Given the description of an element on the screen output the (x, y) to click on. 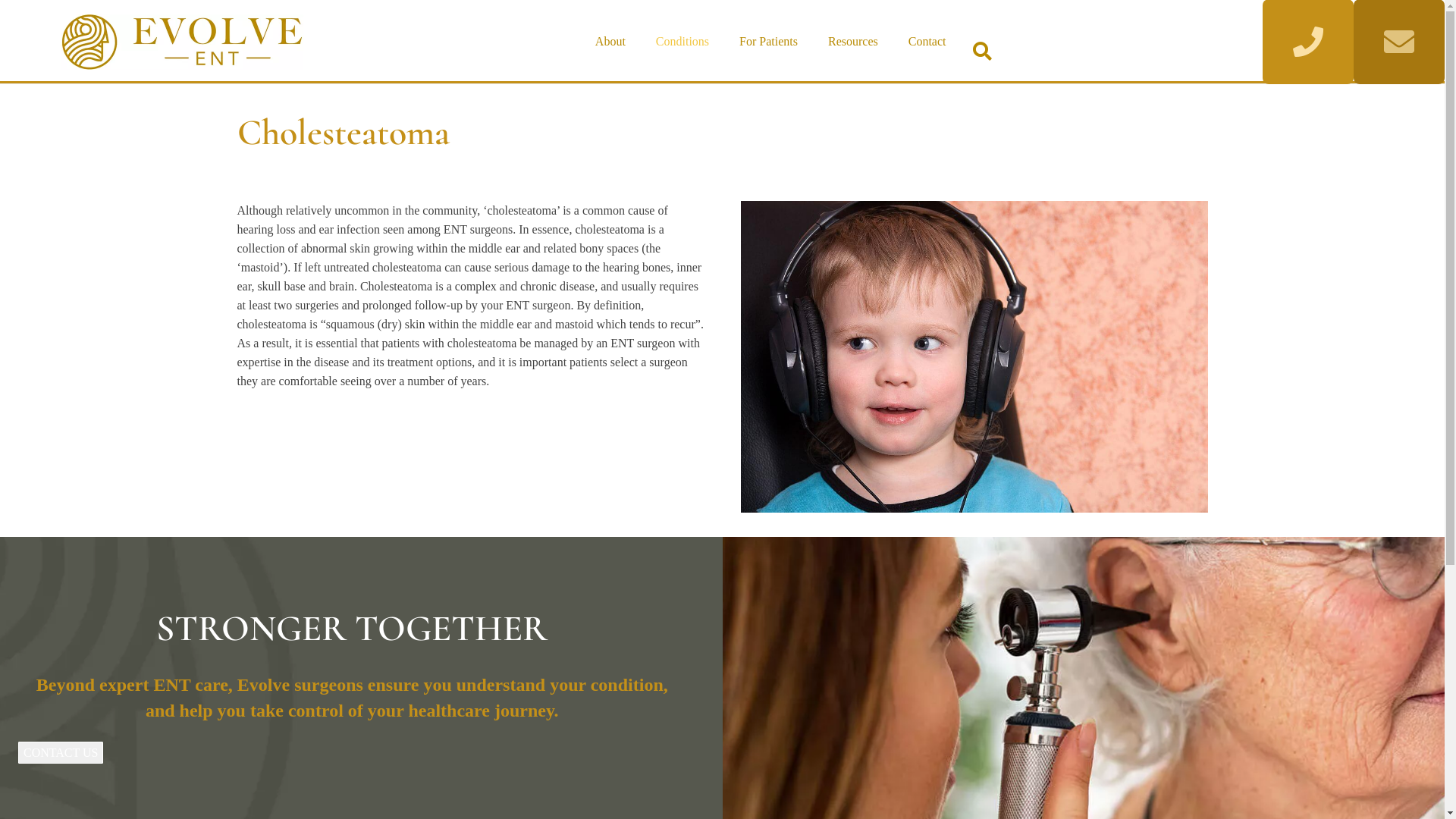
Conditions Element type: text (682, 41)
Resources Element type: text (852, 41)
CONTACT US Element type: text (60, 750)
Contact Element type: text (927, 41)
CONTACT US Element type: text (60, 752)
For Patients Element type: text (768, 41)
About Element type: text (610, 41)
